Given the description of an element on the screen output the (x, y) to click on. 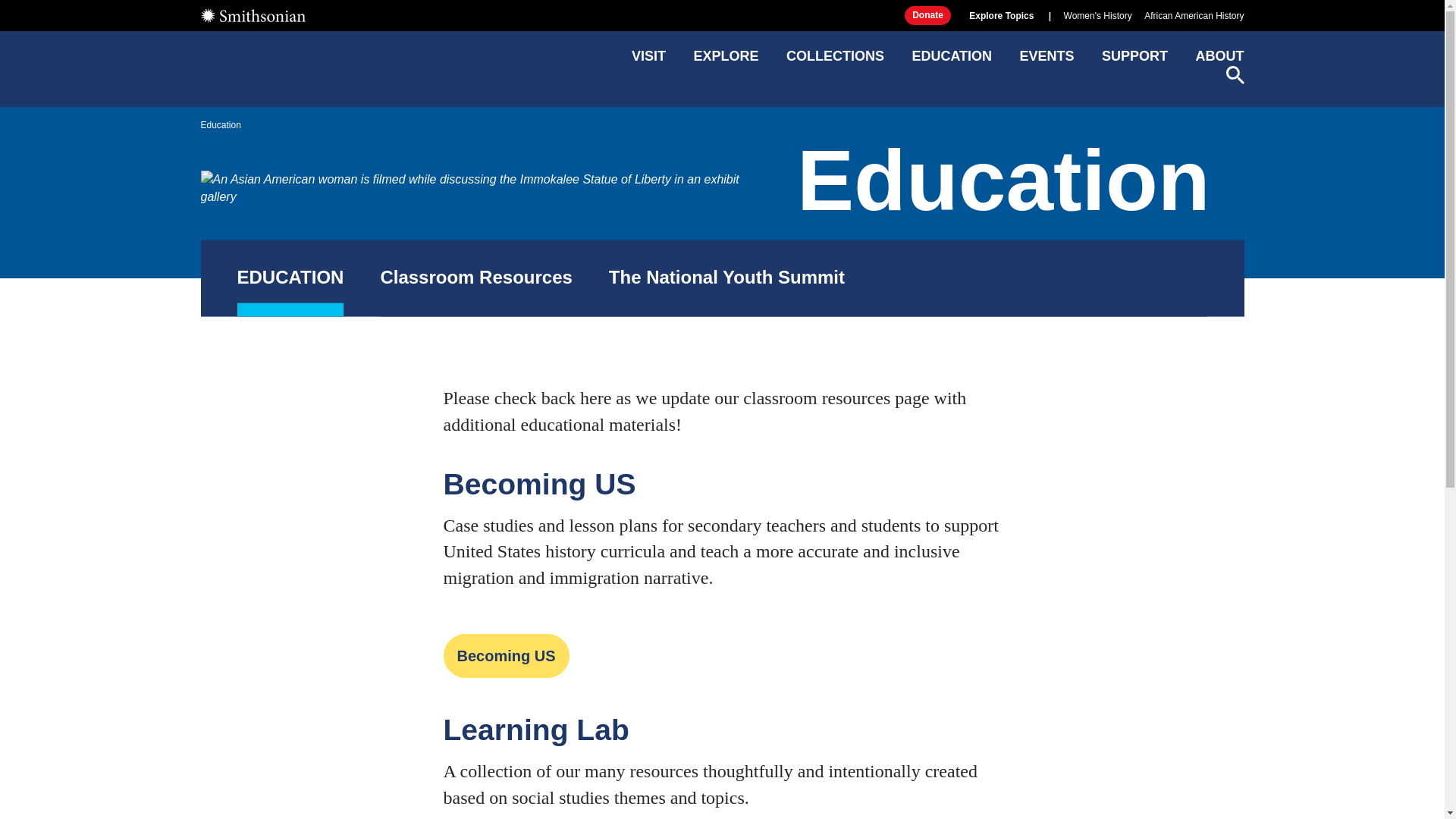
SUPPORT (1134, 60)
COLLECTIONS (834, 60)
ABOUT (1219, 60)
Becoming US (505, 655)
Skip to main content (721, 12)
Donate (927, 15)
EVENTS (1047, 60)
EDUCATION (289, 278)
SEARCH (1234, 75)
National Museum of American History (308, 65)
